Given the description of an element on the screen output the (x, y) to click on. 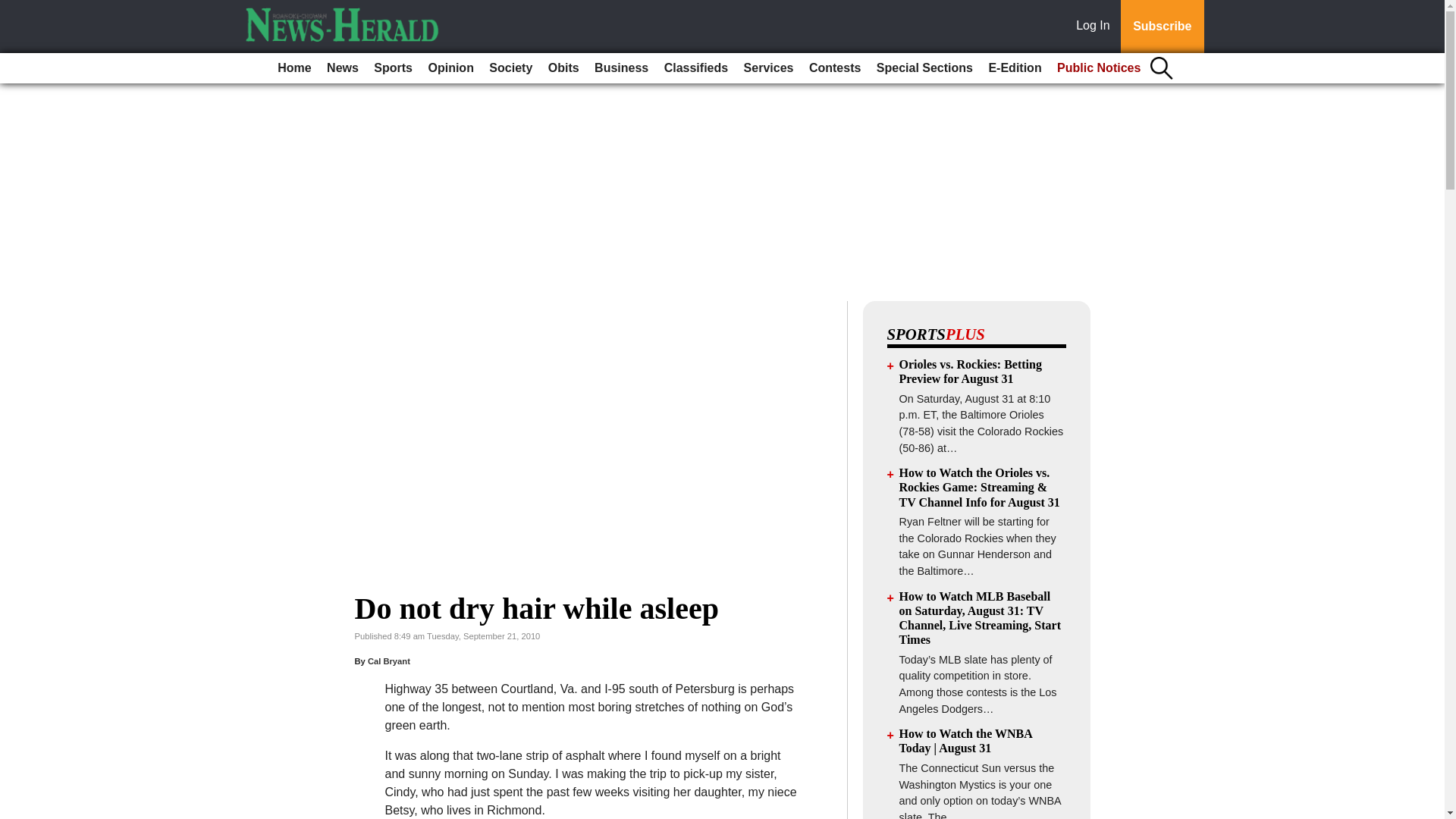
Society (510, 68)
Public Notices (1099, 68)
Cal Bryant (389, 660)
Opinion (450, 68)
Log In (1095, 26)
Subscribe (1162, 26)
Services (768, 68)
Special Sections (924, 68)
Sports (393, 68)
Obits (563, 68)
